Given the description of an element on the screen output the (x, y) to click on. 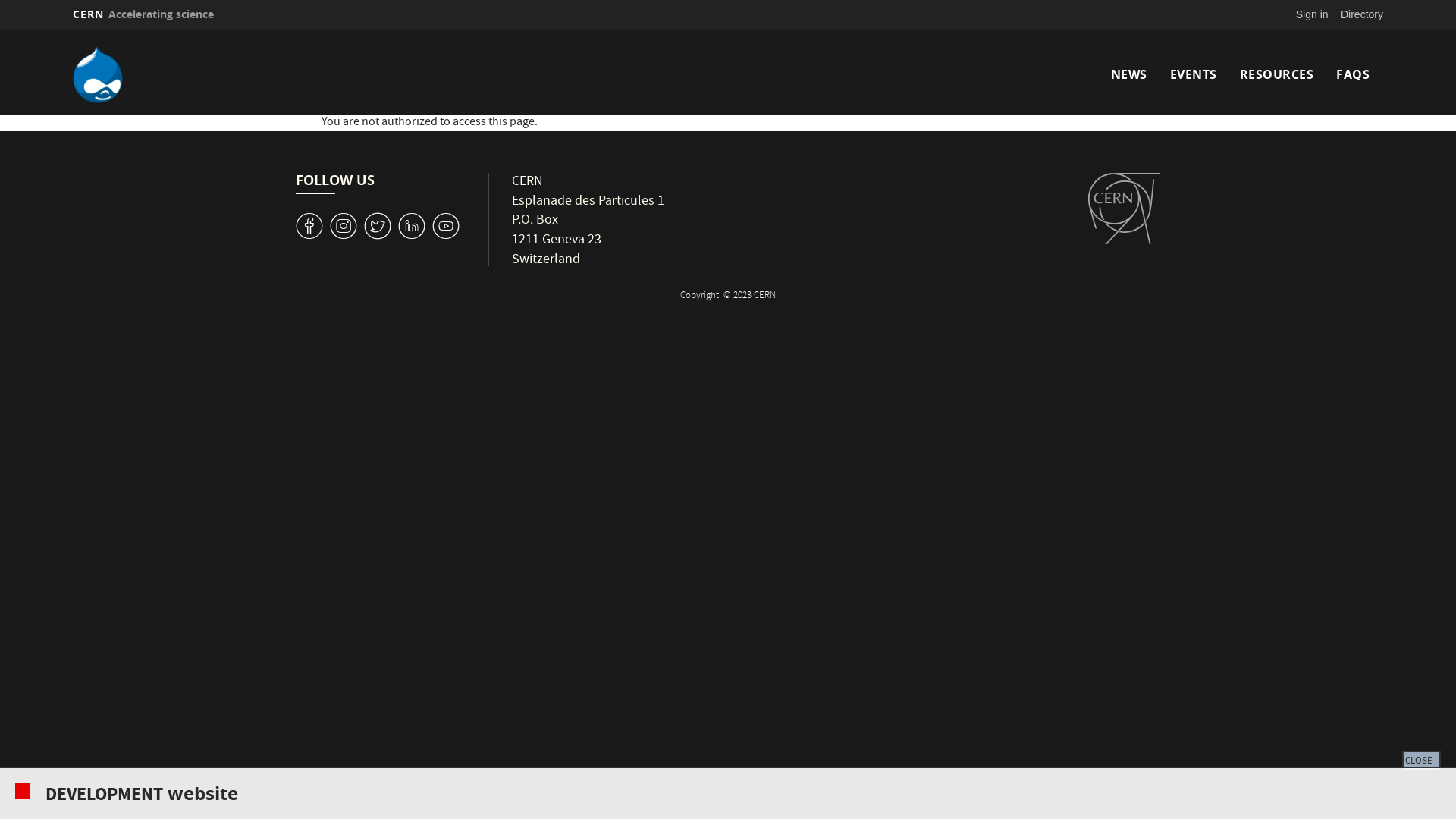
Sign in Element type: text (1311, 14)
Directory Element type: text (1361, 14)
CERN Accelerating science Element type: text (142, 14)
CERN Element type: hover (1124, 208)
W Element type: text (377, 226)
M Element type: text (411, 226)
RESOURCES Element type: text (1276, 74)
Skip to main content Element type: text (0, 30)
FAQS Element type: text (1352, 74)
J Element type: text (343, 226)
Copyright Element type: text (700, 295)
Home Element type: hover (232, 74)
v Element type: text (309, 226)
NEWS Element type: text (1128, 74)
1 Element type: text (445, 226)
EVENTS Element type: text (1192, 74)
